Given the description of an element on the screen output the (x, y) to click on. 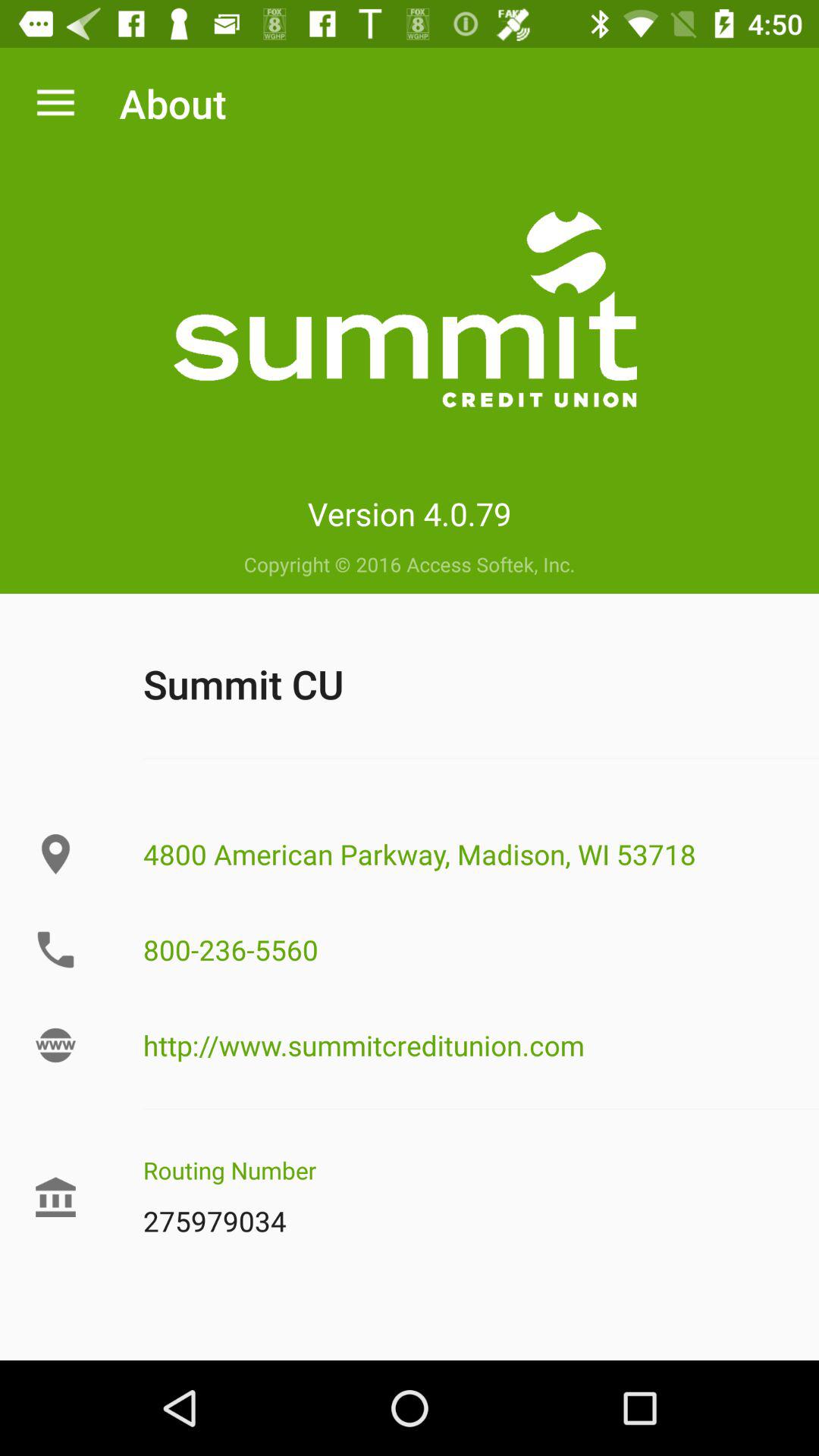
click item above the http www summitcreditunion item (465, 949)
